Given the description of an element on the screen output the (x, y) to click on. 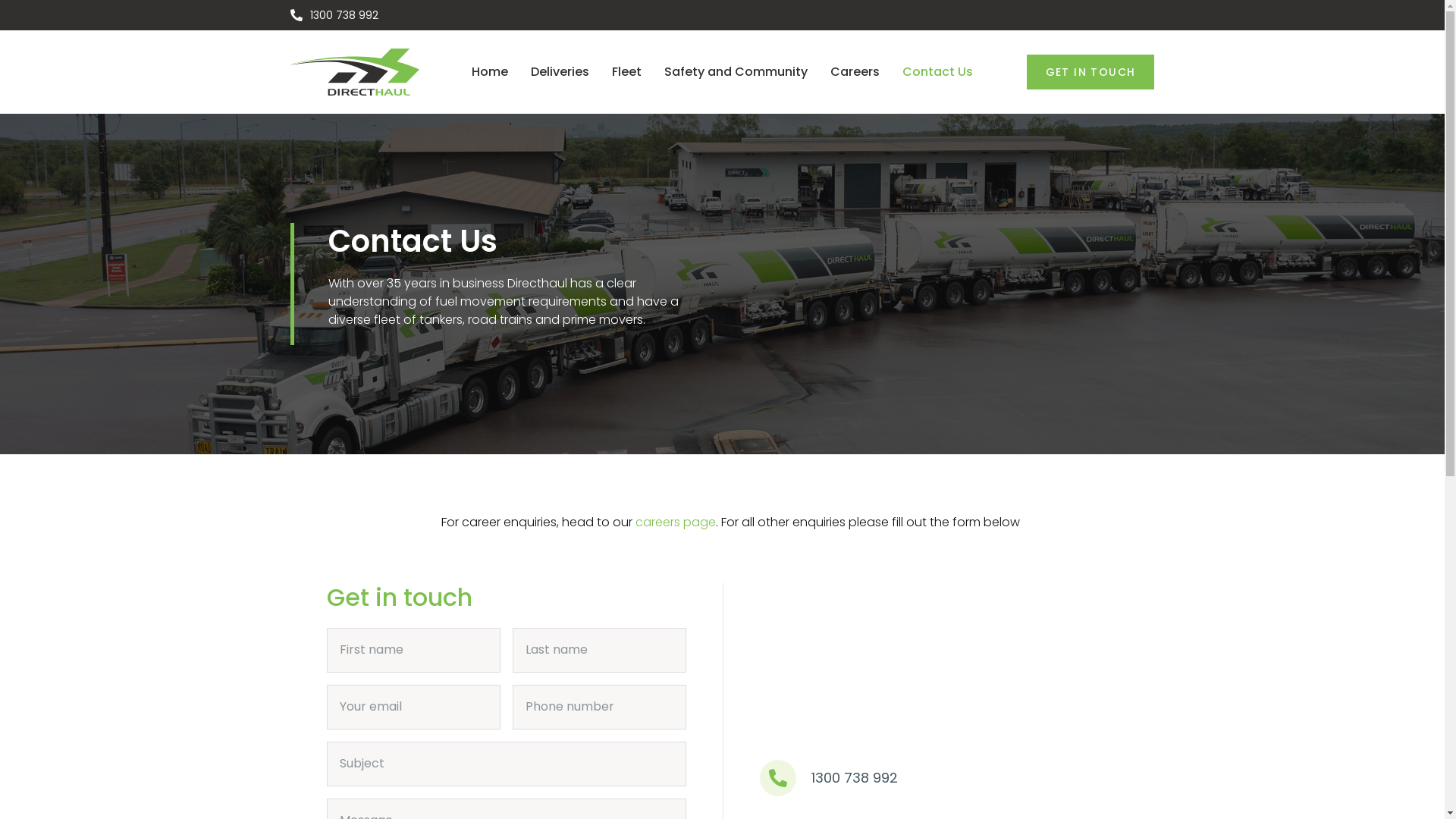
Home Element type: text (489, 71)
Safety and Community Element type: text (735, 71)
Deliveries Element type: text (559, 71)
Contact Us Element type: text (937, 71)
Careers Element type: text (855, 71)
careers page Element type: text (675, 521)
1300 738 992 Element type: text (854, 777)
Fleet Element type: text (626, 71)
GET IN TOUCH Element type: text (1090, 71)
